Given the description of an element on the screen output the (x, y) to click on. 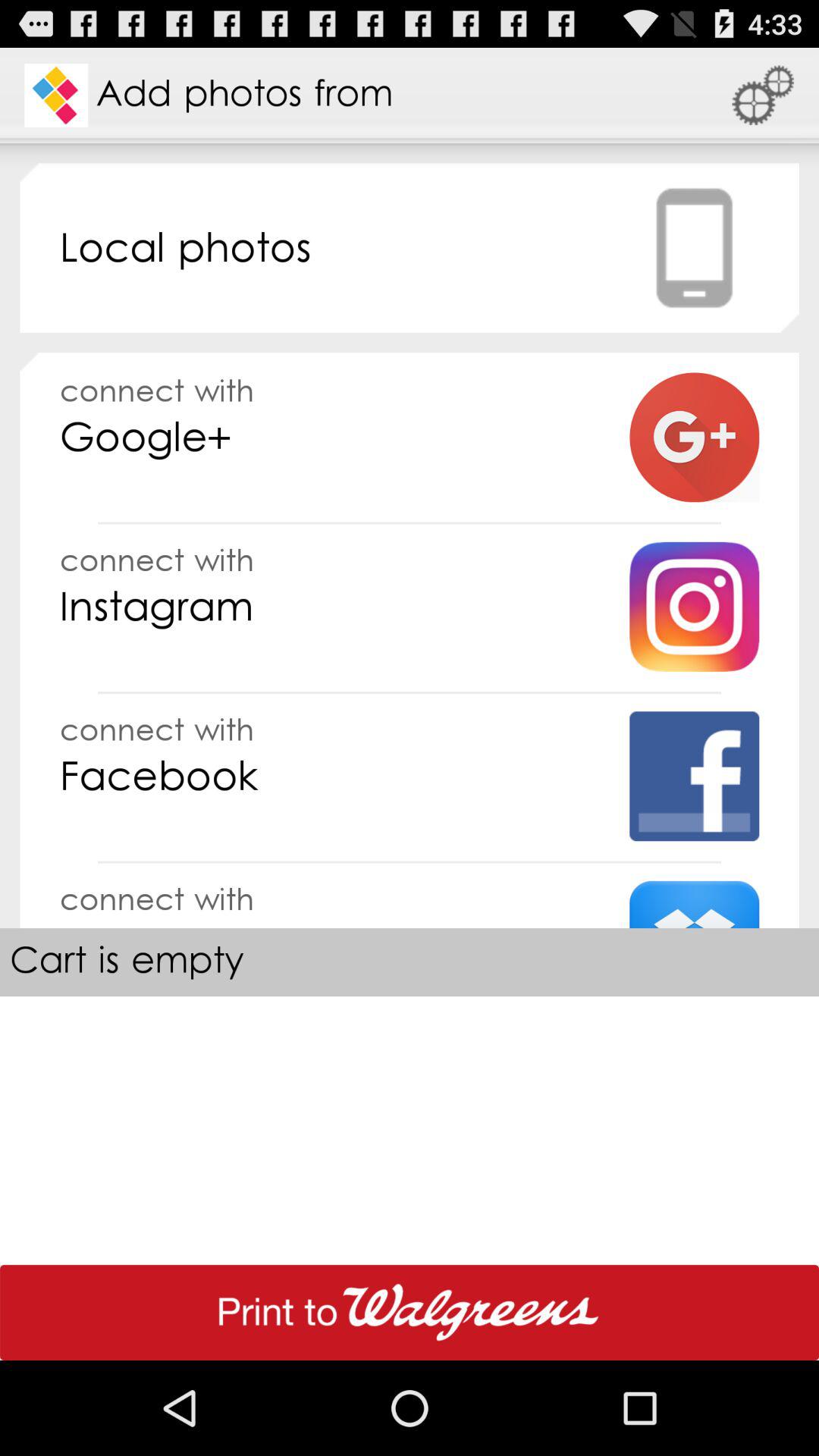
select app next to add photos from app (763, 95)
